Given the description of an element on the screen output the (x, y) to click on. 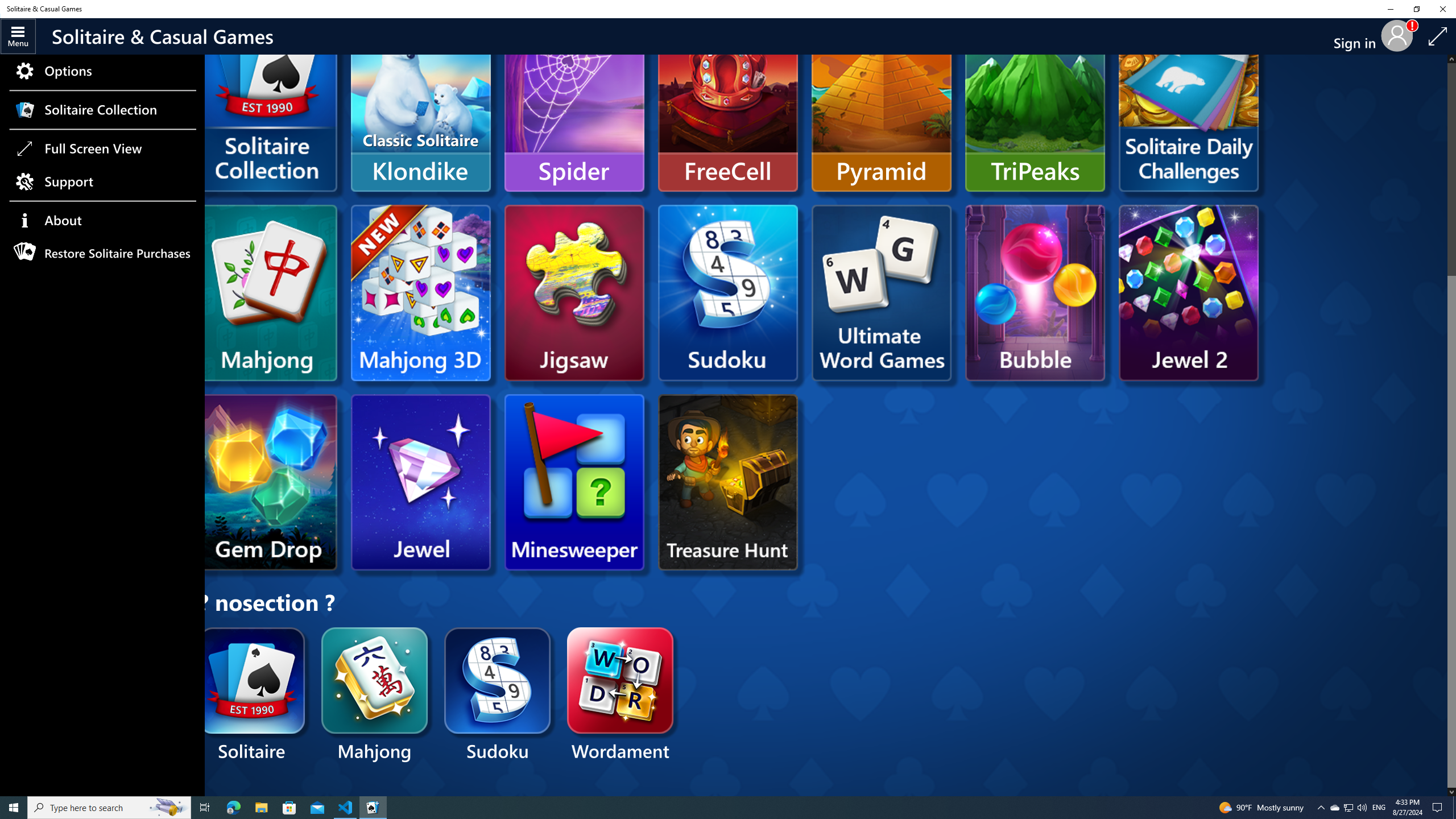
Support (102, 181)
Mahjong (374, 695)
Microsoft Bubble (1035, 292)
Options (102, 70)
Microsoft Gem Drop (267, 481)
Microsoft Jewel 2 (1187, 292)
Mahjong 3D (420, 292)
Sudoku (496, 695)
